Given the description of an element on the screen output the (x, y) to click on. 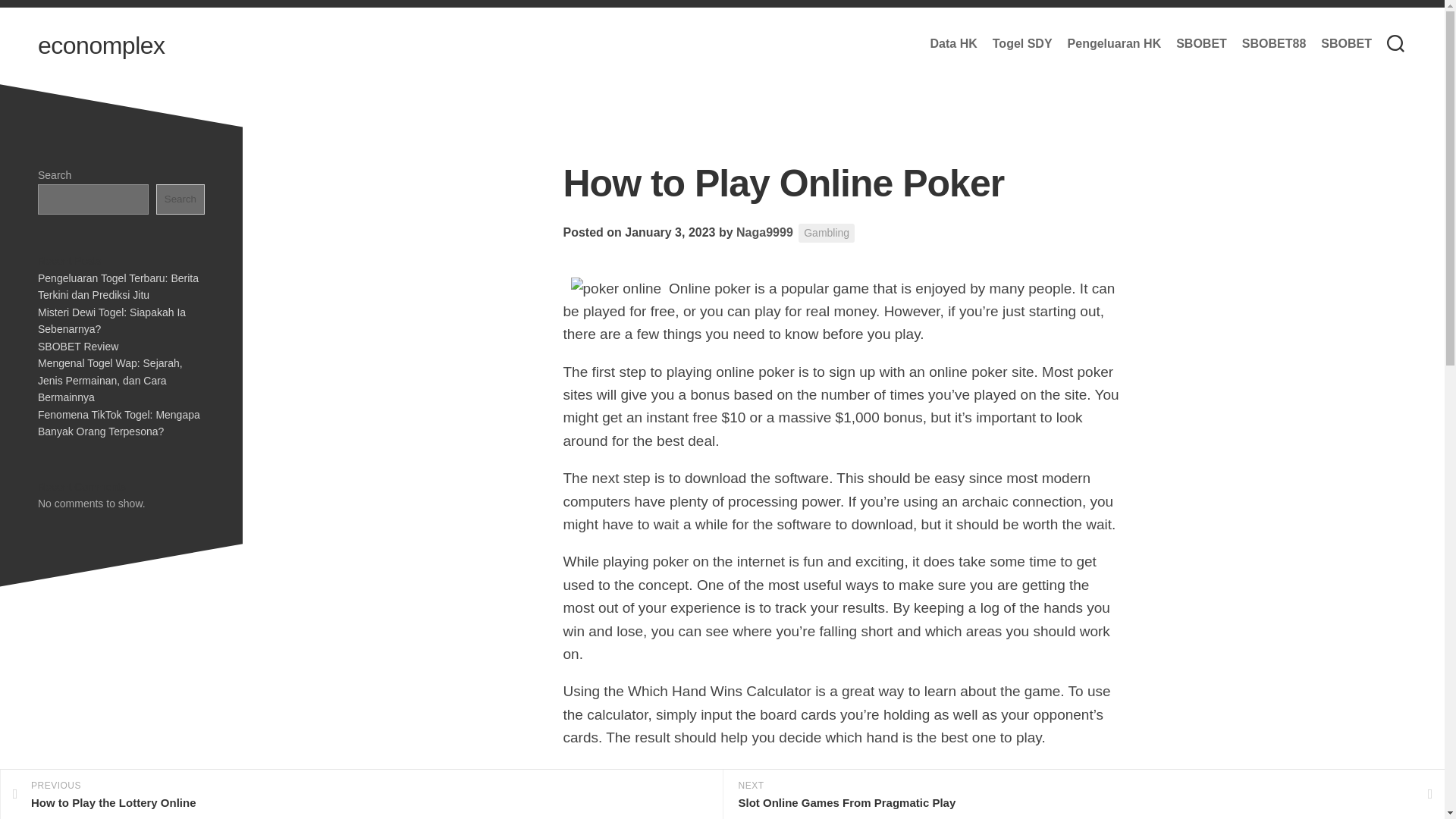
SBOBET (1201, 43)
SBOBET88 (1273, 43)
Posts by Naga9999 (361, 794)
Gambling (764, 232)
SBOBET Review (825, 232)
Fenomena TikTok Togel: Mengapa Banyak Orang Terpesona? (77, 345)
Pengeluaran HK (118, 422)
Search (1114, 43)
Data HK (180, 198)
